Given the description of an element on the screen output the (x, y) to click on. 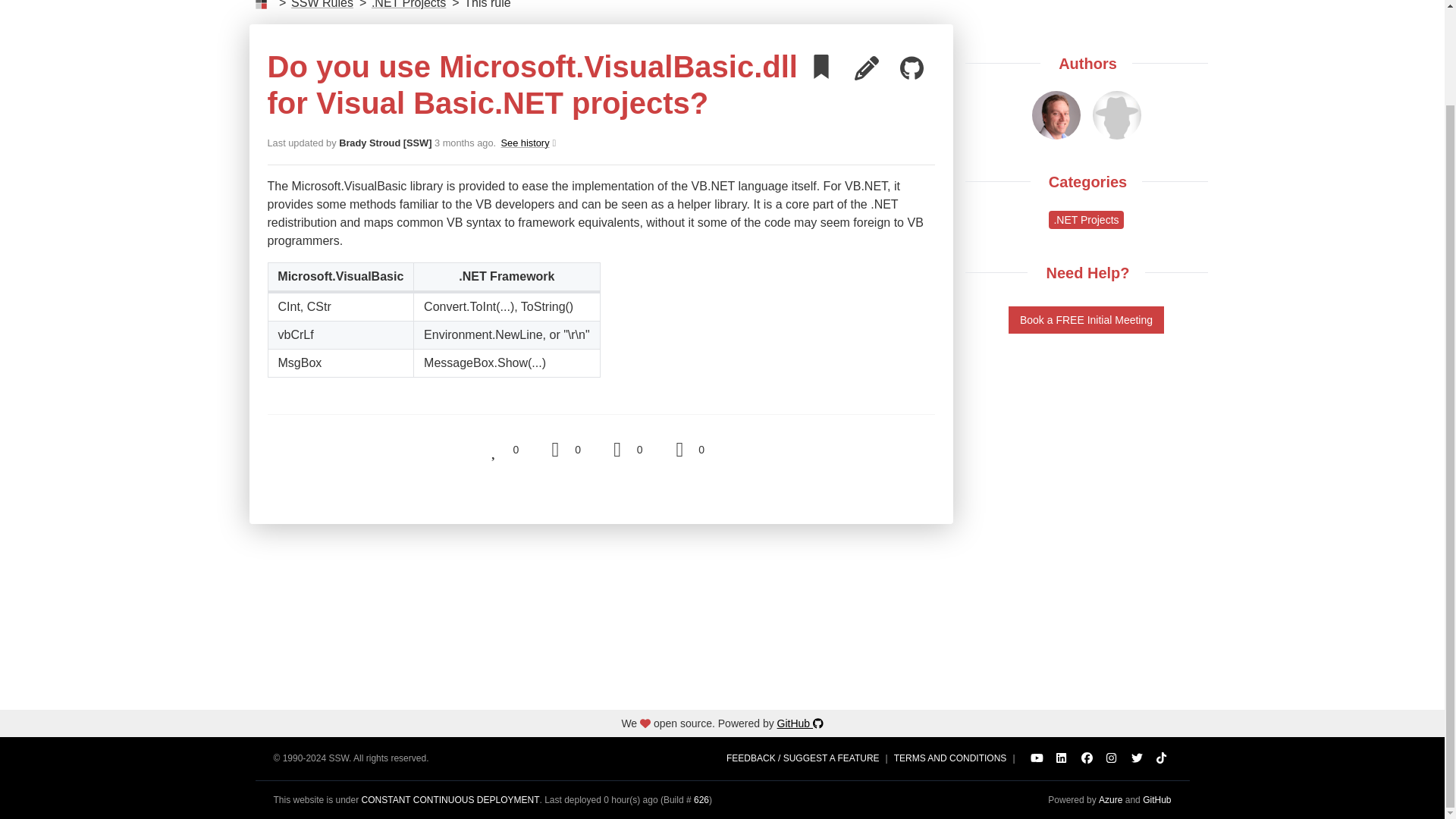
SSW on TikTok (1162, 758)
SSW on Twitter (1135, 758)
See history (526, 142)
SSW on Instagram (1111, 758)
SSW on LinkedIn (1061, 758)
SSW on YouTube (1035, 758)
SSW Rules (322, 6)
SSW on Facebook (1086, 758)
.NET Projects (526, 142)
